Given the description of an element on the screen output the (x, y) to click on. 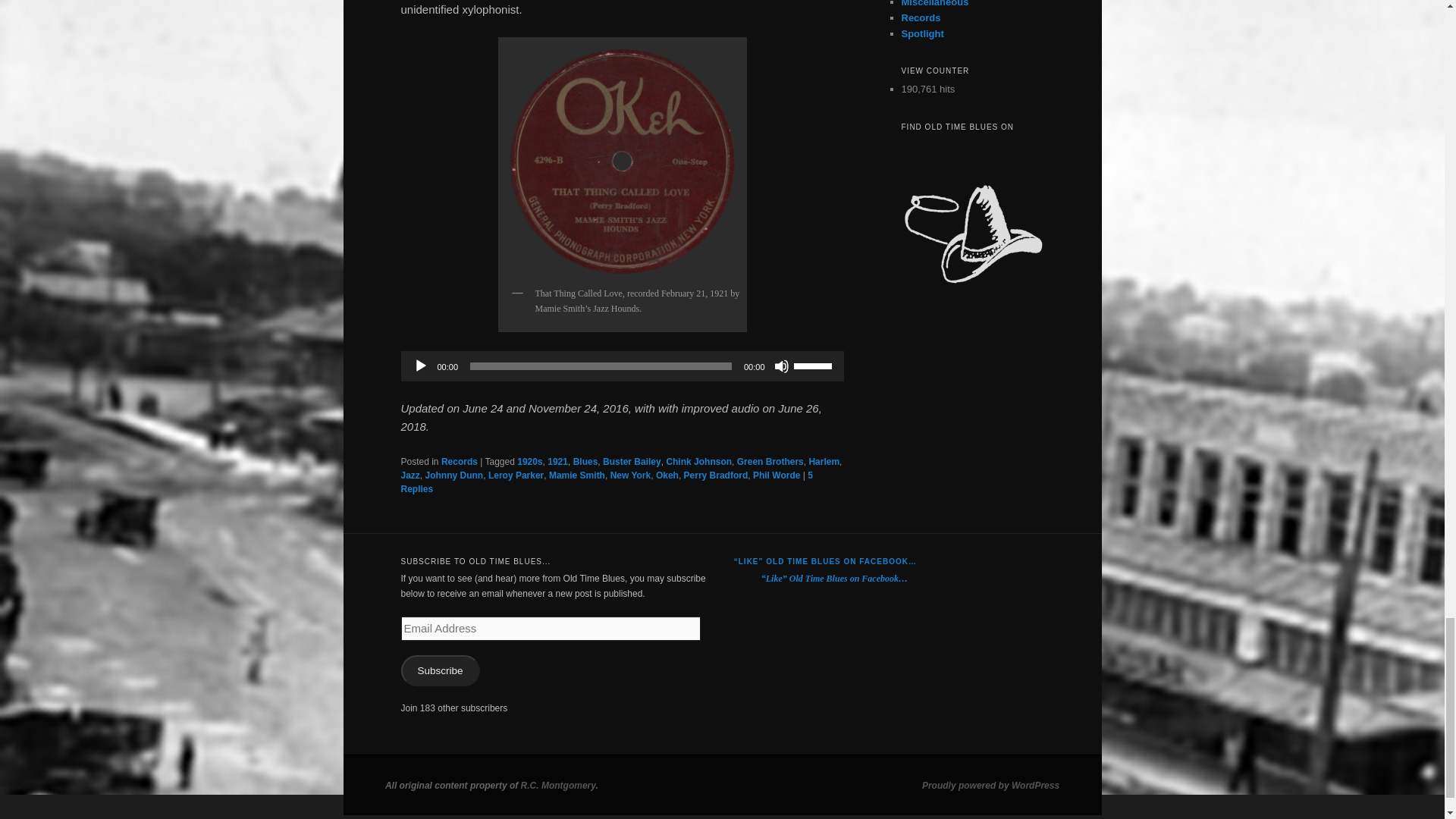
Play (420, 365)
Semantic Personal Publishing Platform (990, 785)
Mute (781, 365)
